Given the description of an element on the screen output the (x, y) to click on. 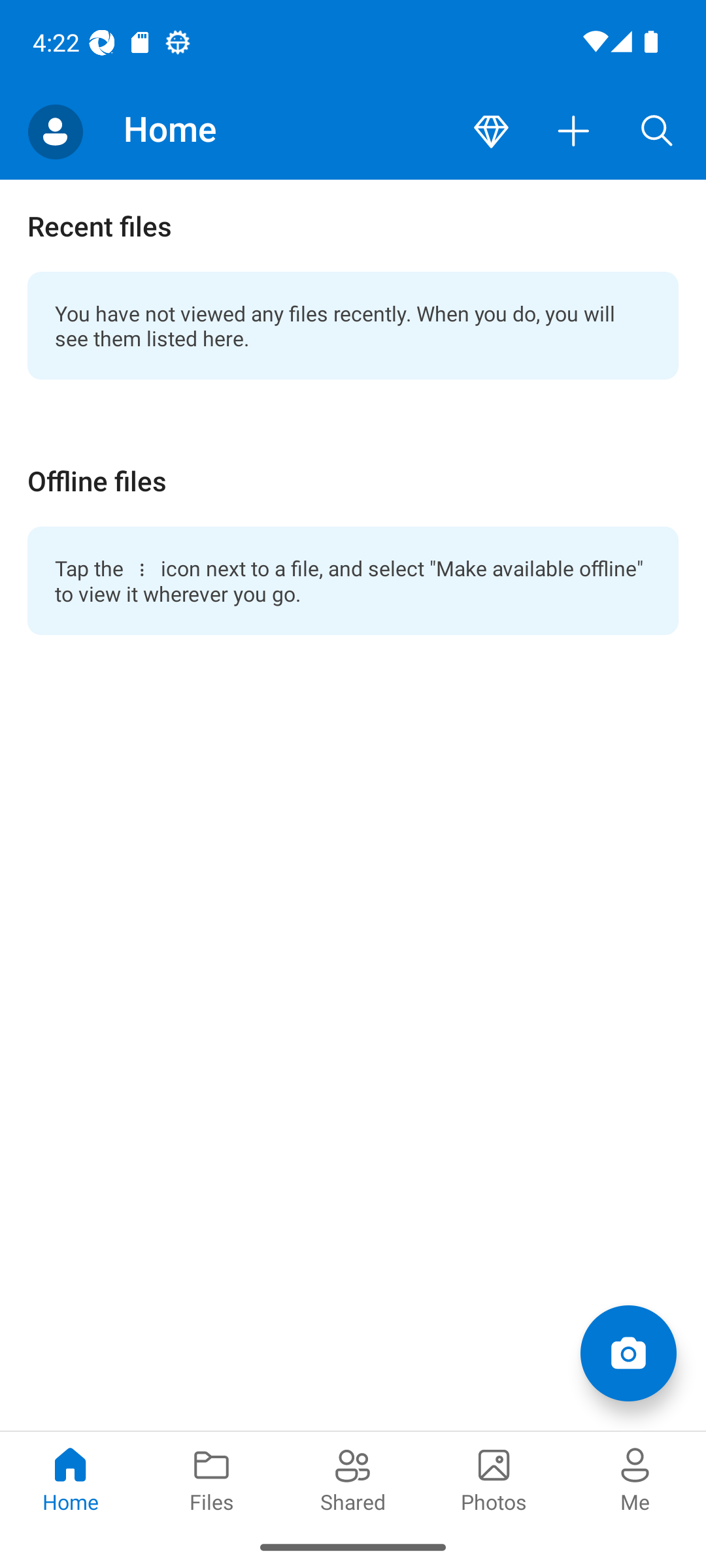
Account switcher (55, 131)
Premium button (491, 131)
More actions button (574, 131)
Search button (656, 131)
Scan (628, 1352)
Files pivot Files (211, 1478)
Shared pivot Shared (352, 1478)
Photos pivot Photos (493, 1478)
Me pivot Me (635, 1478)
